Given the description of an element on the screen output the (x, y) to click on. 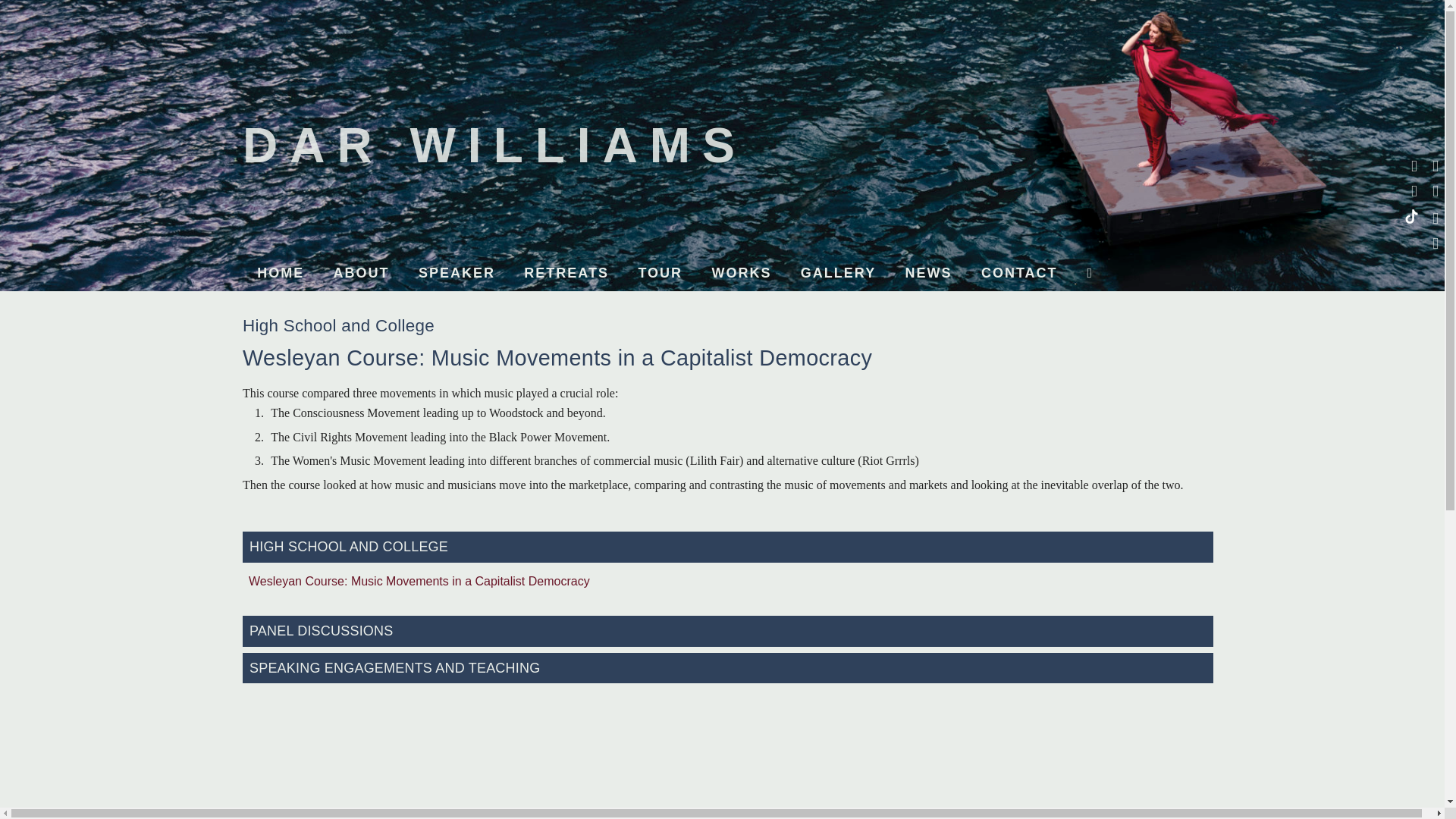
ABOUT (360, 272)
DAR WILLIAMS (494, 144)
facebook (1411, 163)
TOUR (660, 272)
youtube (1411, 188)
apple music (1433, 215)
WORKS (741, 272)
HOME (280, 272)
PANEL DISCUSSIONS (727, 631)
NEWS (927, 272)
instagram (1433, 163)
tiktok (1411, 212)
HIGH SCHOOL AND COLLEGE (727, 546)
CONTACT (1018, 272)
Wesleyan Course: Music Movements in a Capitalist Democracy (727, 581)
